Given the description of an element on the screen output the (x, y) to click on. 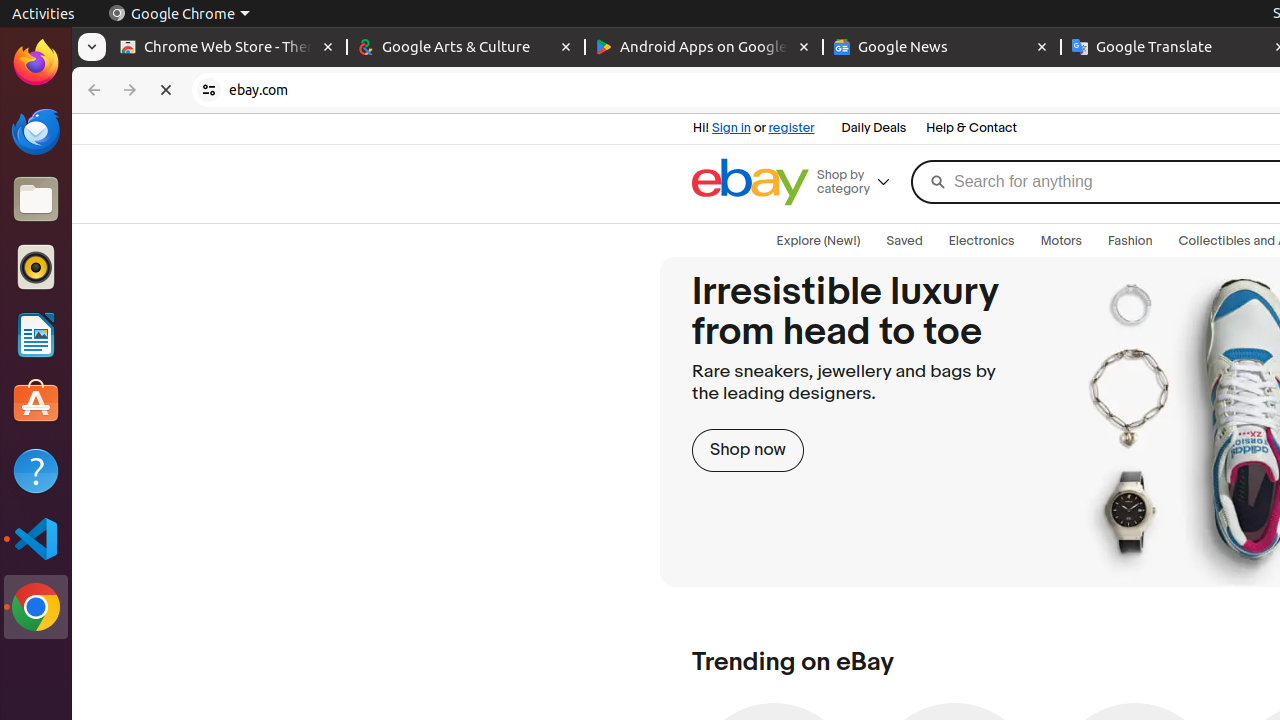
Google Chrome Element type: menu (179, 13)
Help Element type: push-button (36, 470)
Visual Studio Code Element type: push-button (36, 538)
Google Arts & Culture - Memory usage - 58.2 MB Element type: page-tab (466, 47)
Motors Element type: link (1061, 241)
